Given the description of an element on the screen output the (x, y) to click on. 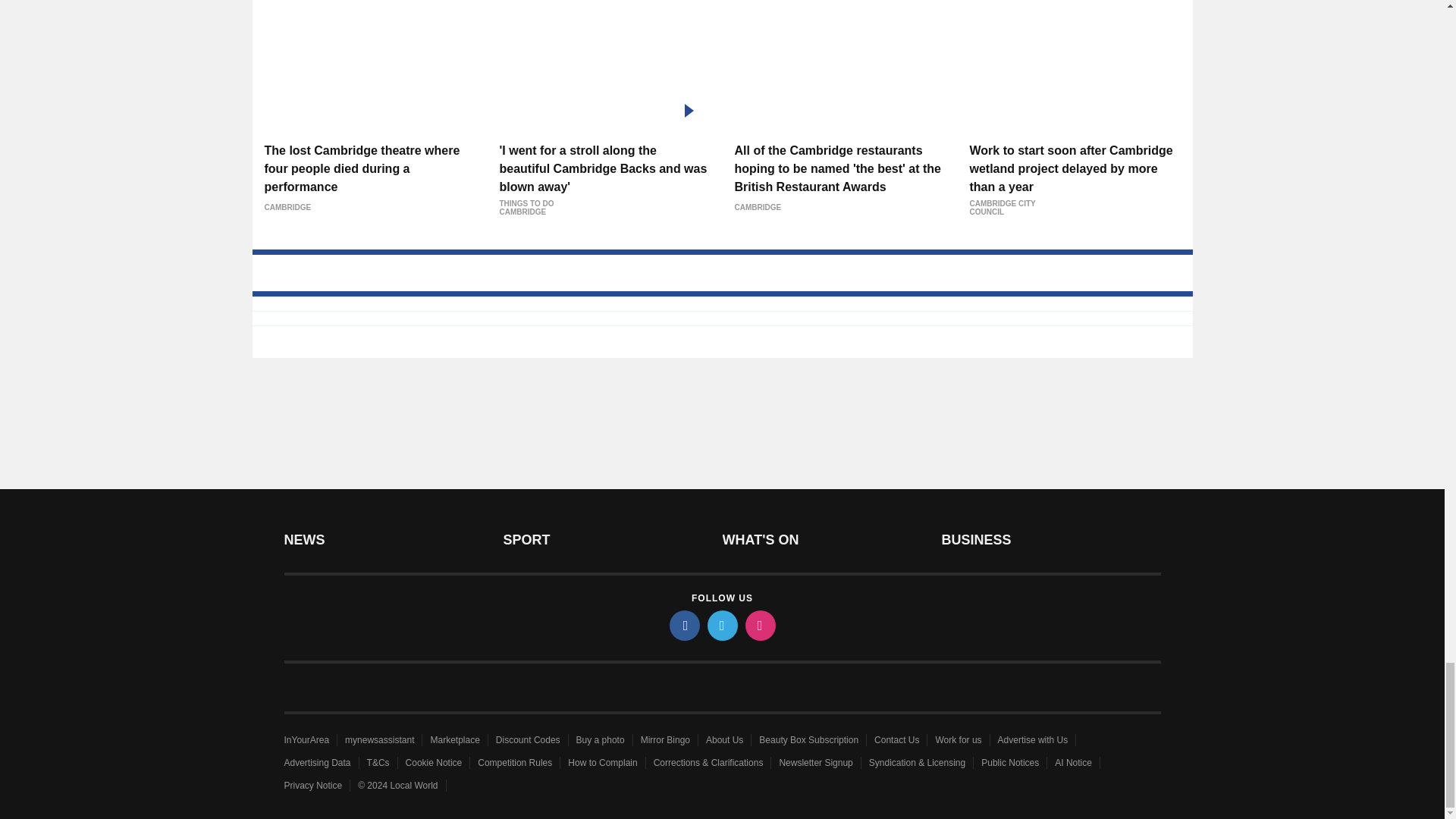
facebook (683, 625)
twitter (721, 625)
instagram (759, 625)
